Given the description of an element on the screen output the (x, y) to click on. 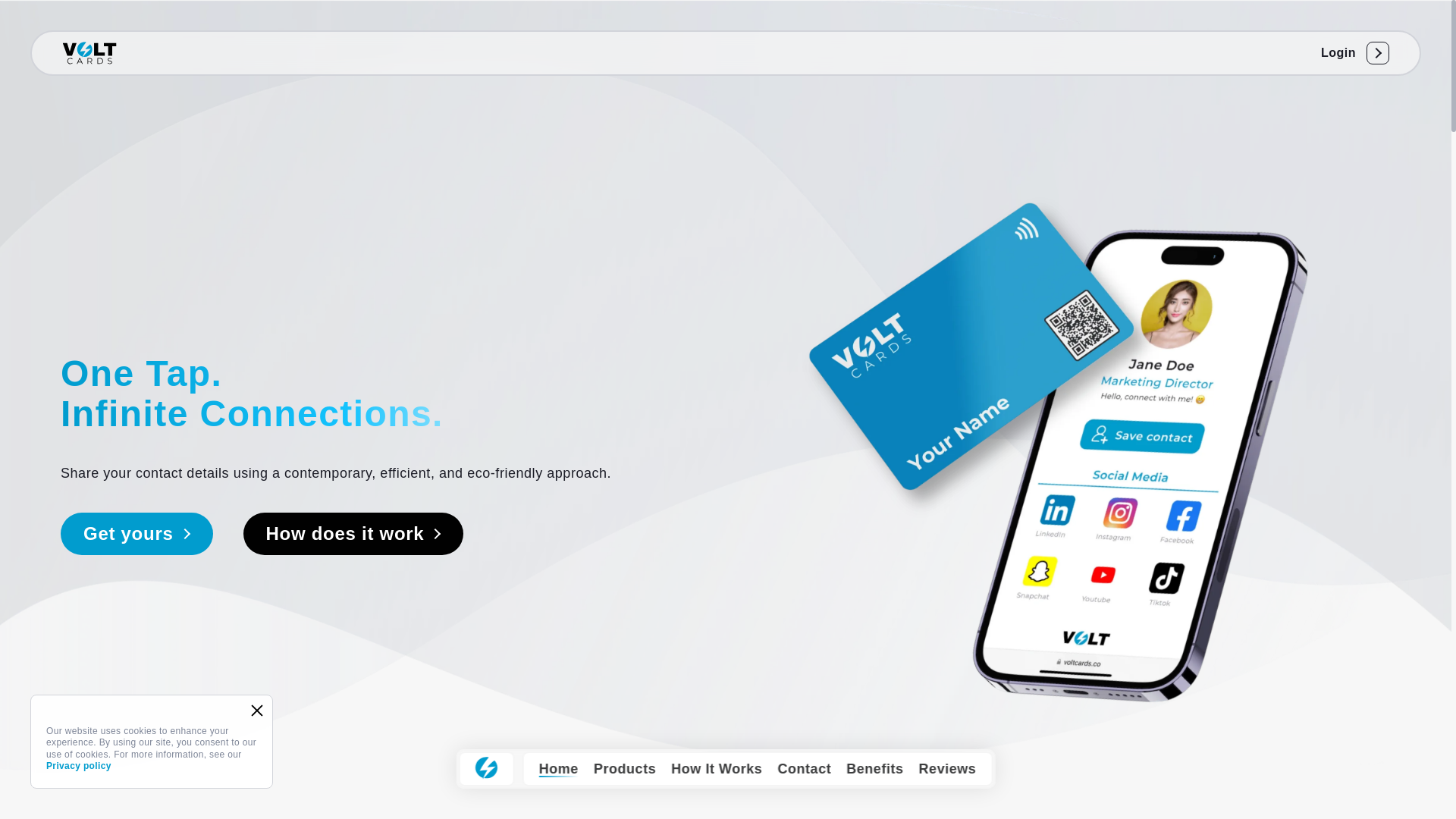
Products (625, 768)
Privacy policy (79, 765)
Contact (804, 768)
How does it work (353, 533)
Home (558, 768)
Get yours (136, 533)
Reviews (946, 768)
Benefits (873, 768)
How It Works (716, 768)
Login (1348, 52)
